Given the description of an element on the screen output the (x, y) to click on. 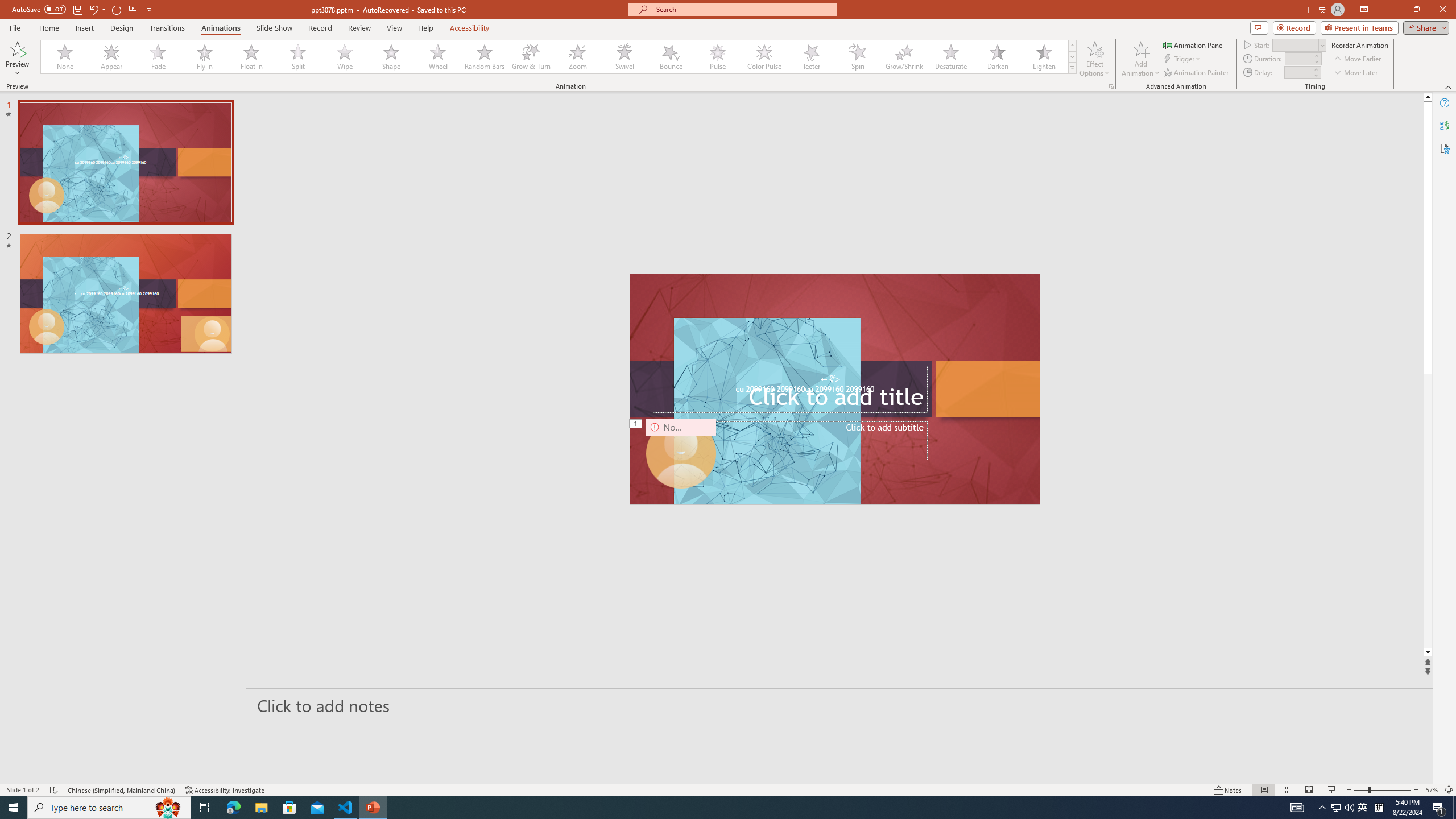
Animation Delay (1297, 72)
Split (298, 56)
Move Later (1355, 72)
TextBox 61 (833, 390)
